Given the description of an element on the screen output the (x, y) to click on. 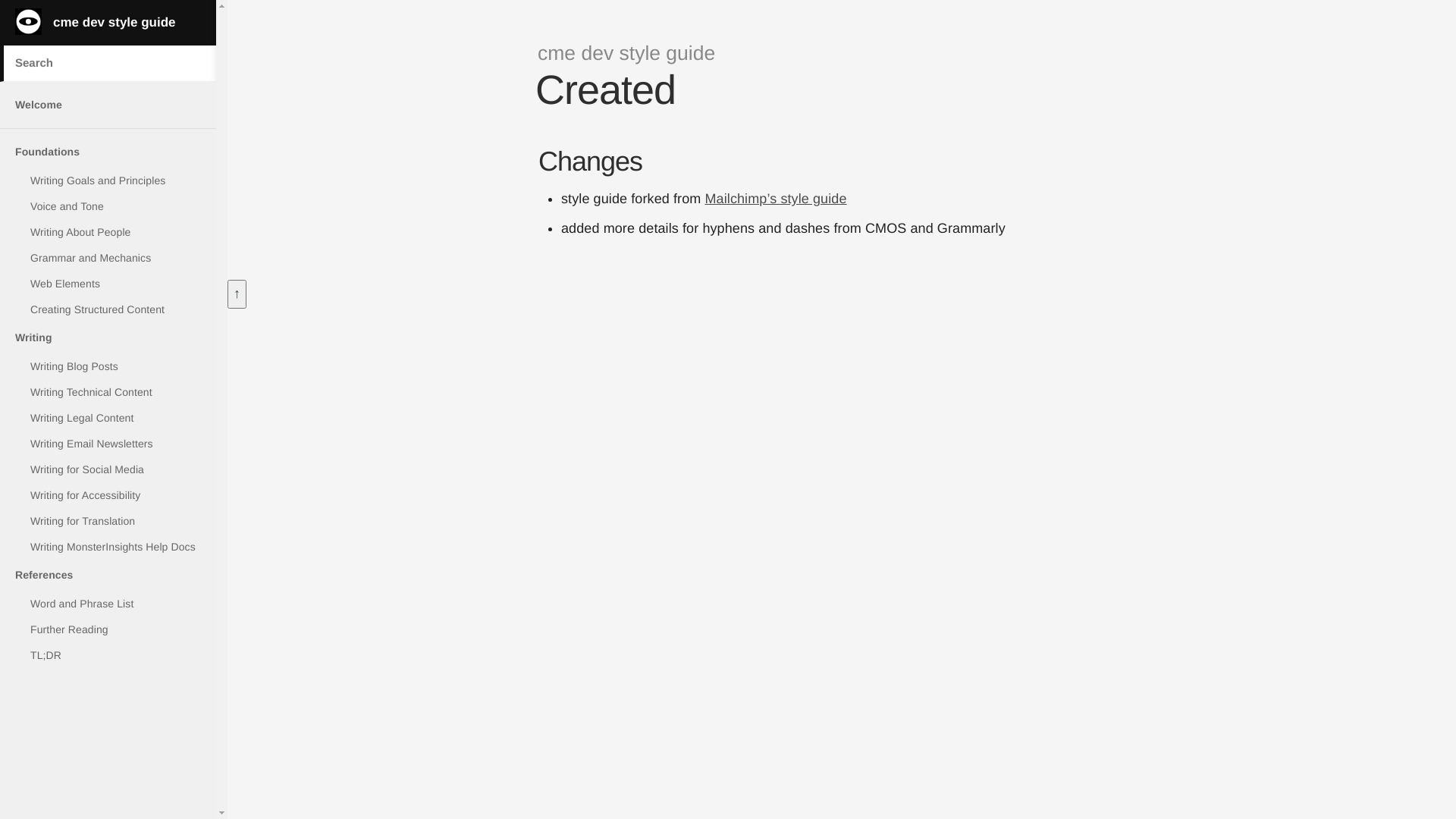
References Element type: text (108, 574)
Writing Legal Content Element type: text (108, 417)
Writing for Accessibility Element type: text (108, 495)
Word and Phrase List Element type: text (108, 603)
Further Reading Element type: text (108, 629)
Search Element type: text (27, 10)
Grammar and Mechanics Element type: text (108, 257)
Creating Structured Content Element type: text (108, 309)
Writing for Translation Element type: text (108, 520)
Foundations Element type: text (108, 151)
Writing for Social Media Element type: text (108, 469)
Writing Goals and Principles Element type: text (108, 180)
Voice and Tone Element type: text (108, 206)
Writing Blog Posts Element type: text (108, 366)
Writing About People Element type: text (108, 231)
Welcome Element type: text (108, 104)
Web Elements Element type: text (108, 283)
Writing MonsterInsights Help Docs Element type: text (108, 546)
Writing Technical Content Element type: text (108, 391)
TL;DR Element type: text (108, 655)
Writing Email Newsletters Element type: text (108, 443)
Writing Element type: text (108, 337)
